Given the description of an element on the screen output the (x, y) to click on. 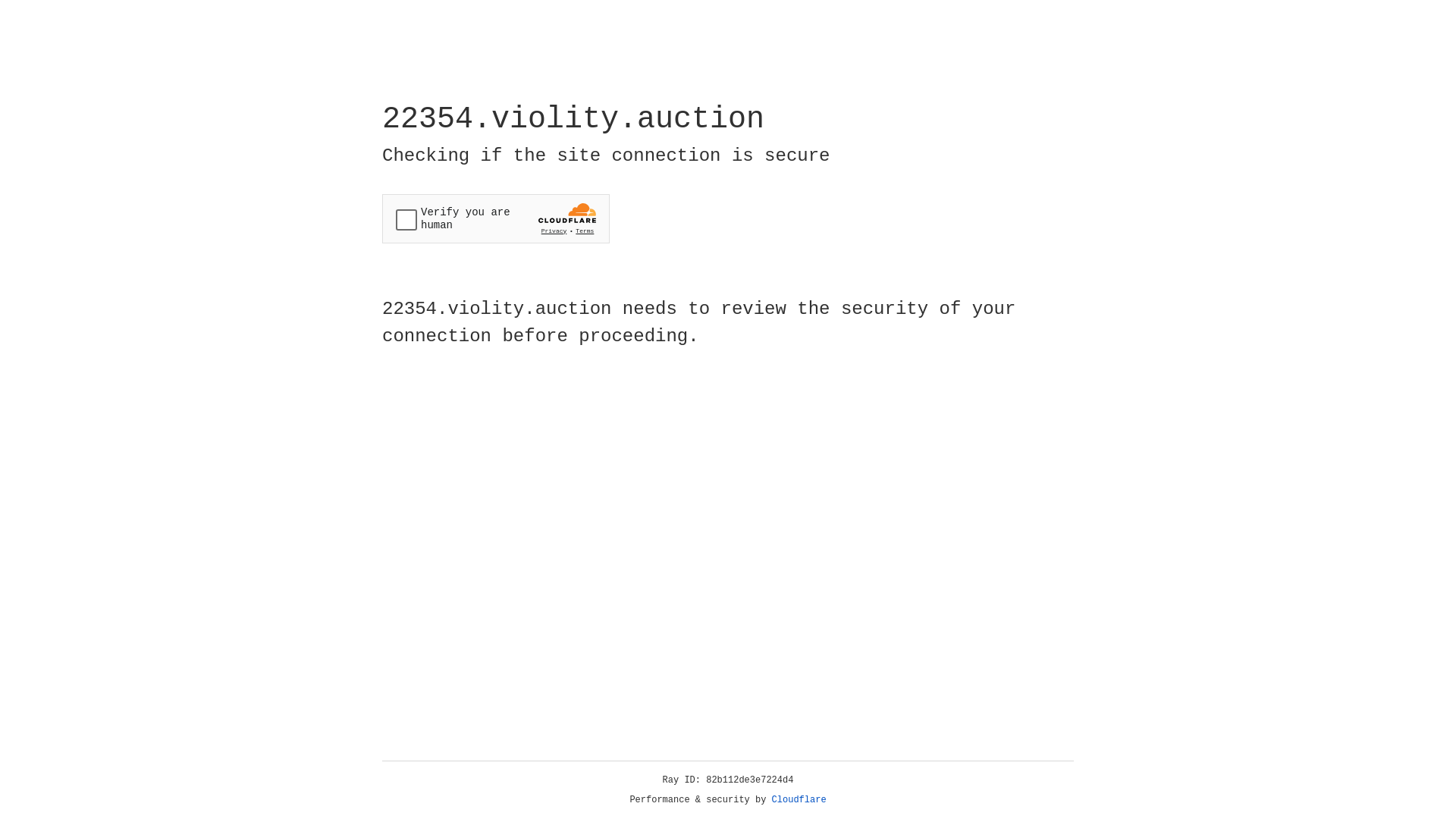
Cloudflare Element type: text (798, 799)
Widget containing a Cloudflare security challenge Element type: hover (495, 218)
